Given the description of an element on the screen output the (x, y) to click on. 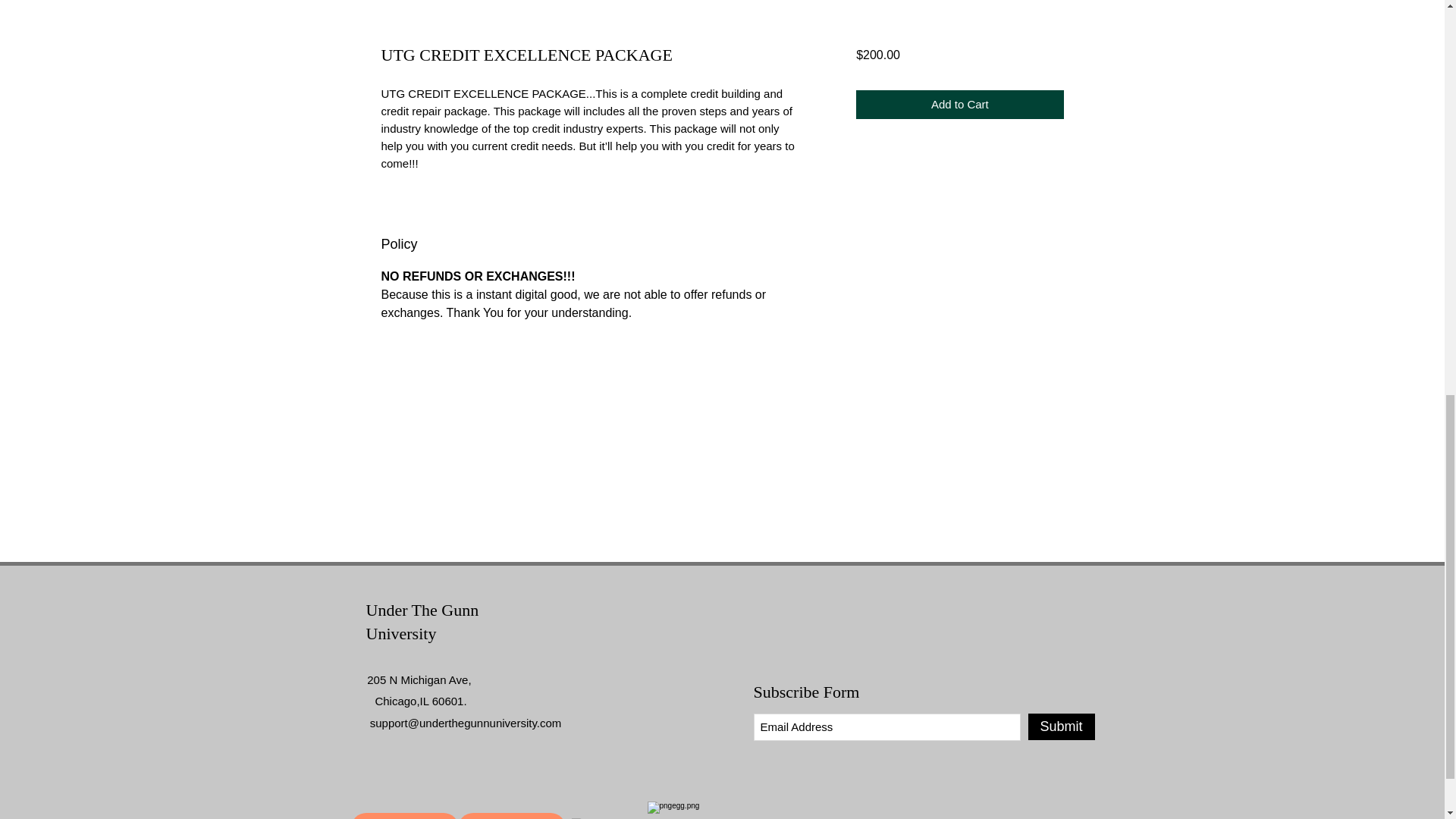
Privacy Policy (404, 816)
Submit (1060, 726)
Add to Cart (959, 104)
Under The Gunn University (422, 621)
